Given the description of an element on the screen output the (x, y) to click on. 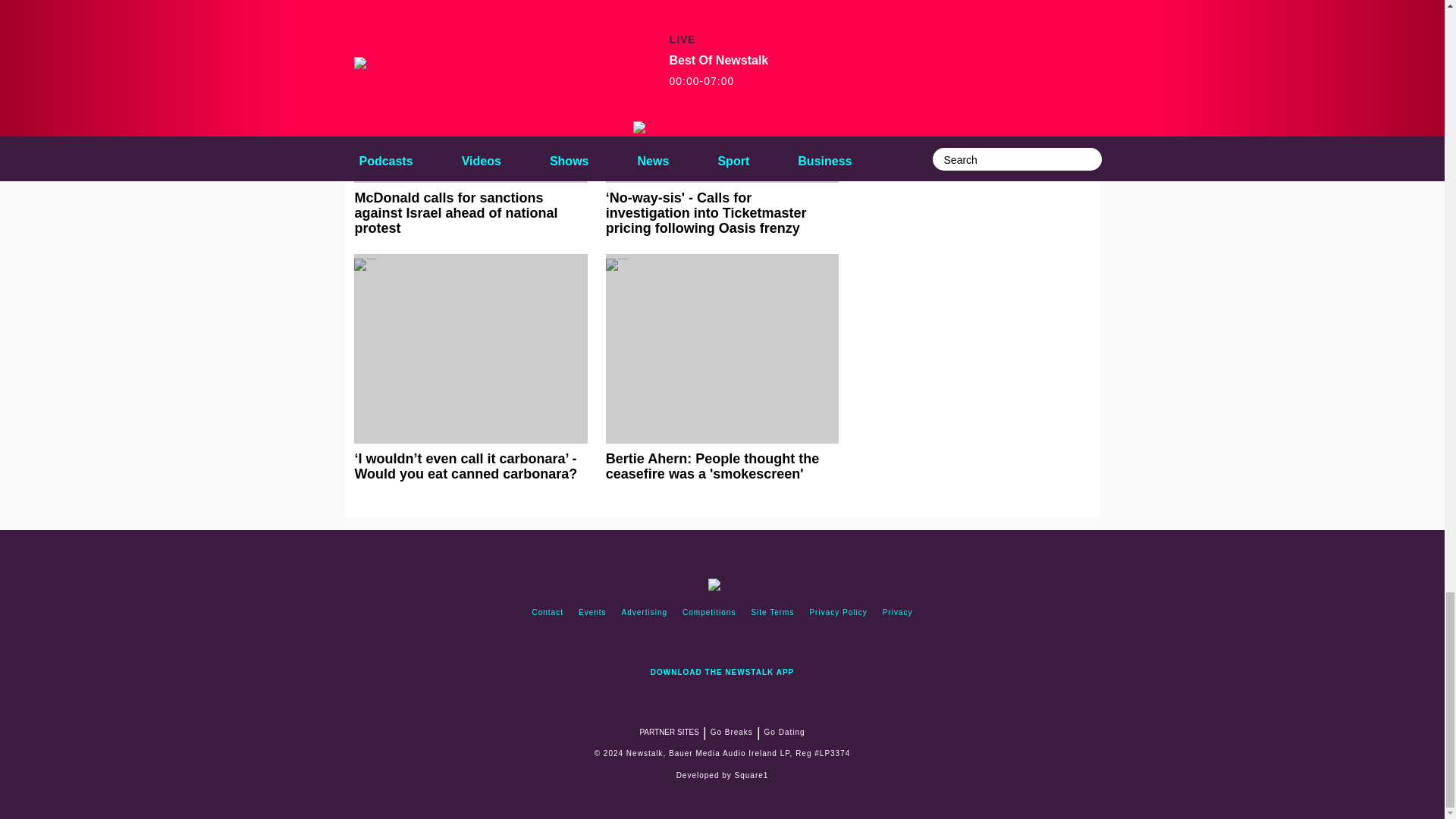
advertising (644, 612)
Privacy Policy (838, 612)
site terms (772, 612)
competitions (708, 612)
Privacy (897, 612)
events (592, 612)
contact (547, 612)
